Given the description of an element on the screen output the (x, y) to click on. 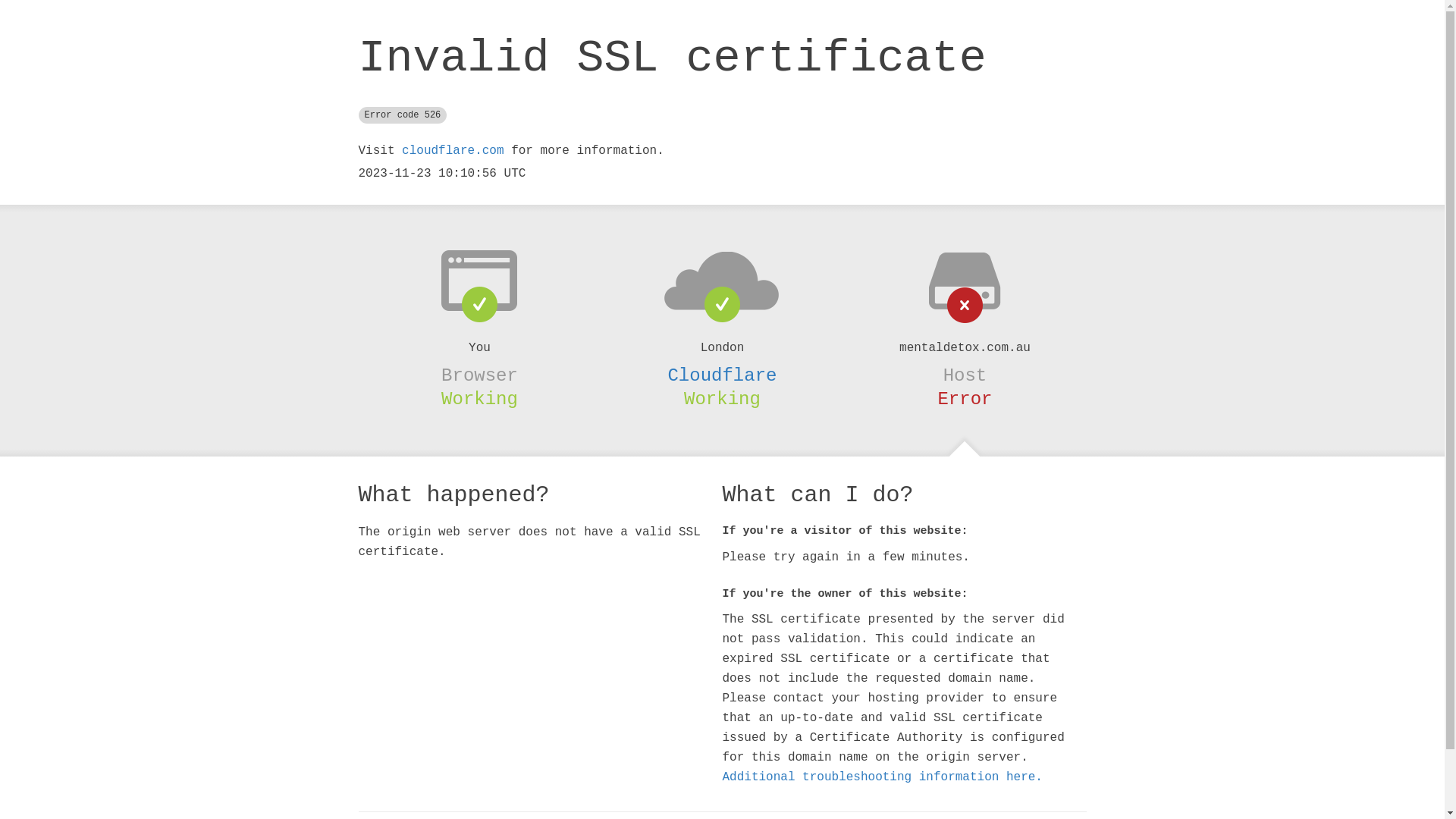
cloudflare.com Element type: text (452, 150)
Cloudflare Element type: text (721, 375)
Additional troubleshooting information here. Element type: text (881, 777)
